Given the description of an element on the screen output the (x, y) to click on. 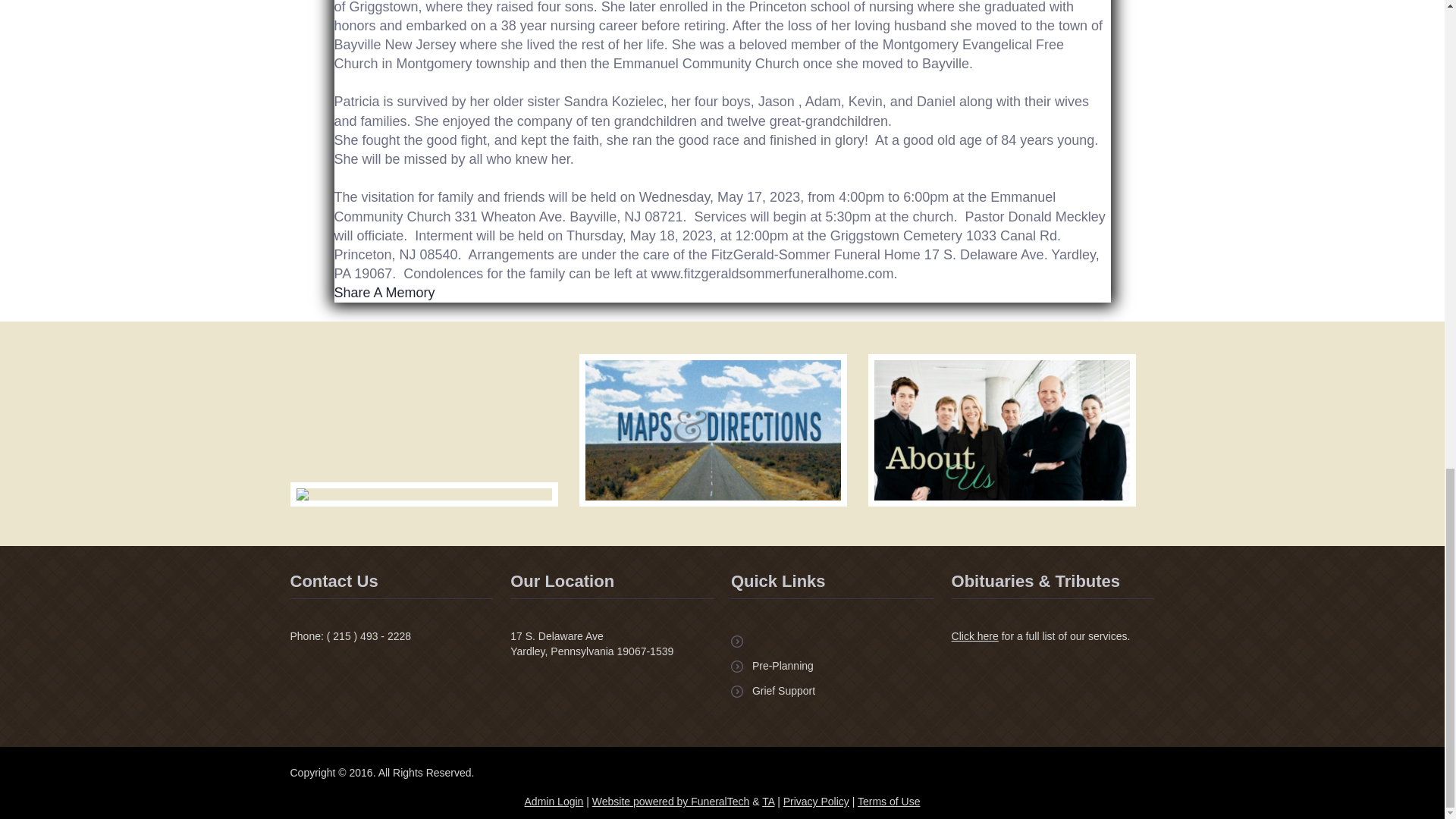
Share A Memory (383, 292)
